Given the description of an element on the screen output the (x, y) to click on. 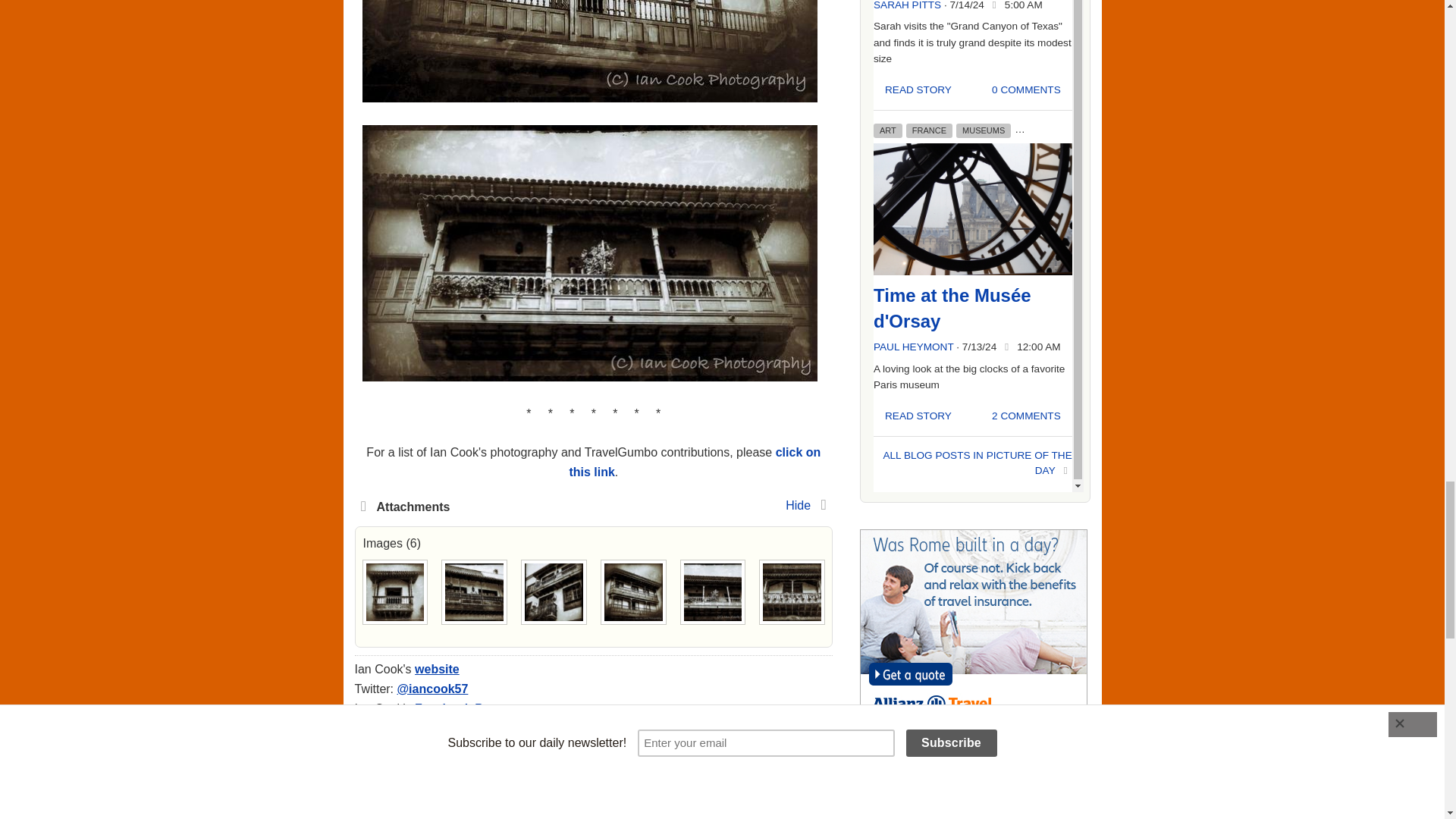
Balconies, Puerto de la Cruz, Tenerife (394, 592)
Balconies, Puerto de la Cruz, Tenerife (713, 592)
Balconies, Puerto de la Cruz, Tenerife (792, 592)
Balconies, Puerto de la Cruz, Tenerife (633, 592)
Balconies, Puerto de la Cruz, Tenerife (553, 592)
Balconies, Puerto de la Cruz, Tenerife (474, 592)
